Given the description of an element on the screen output the (x, y) to click on. 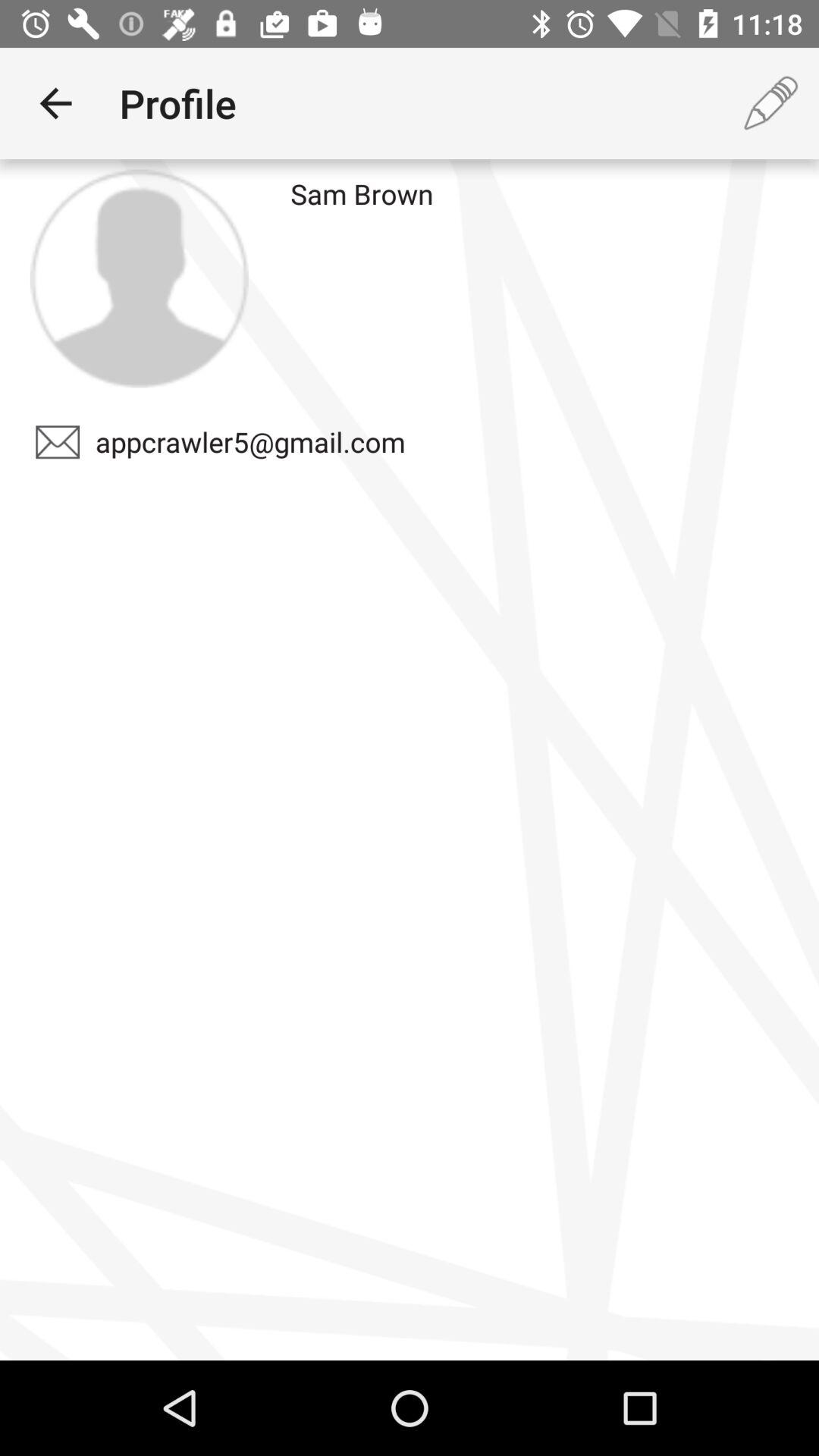
turn off item to the left of profile (55, 103)
